Given the description of an element on the screen output the (x, y) to click on. 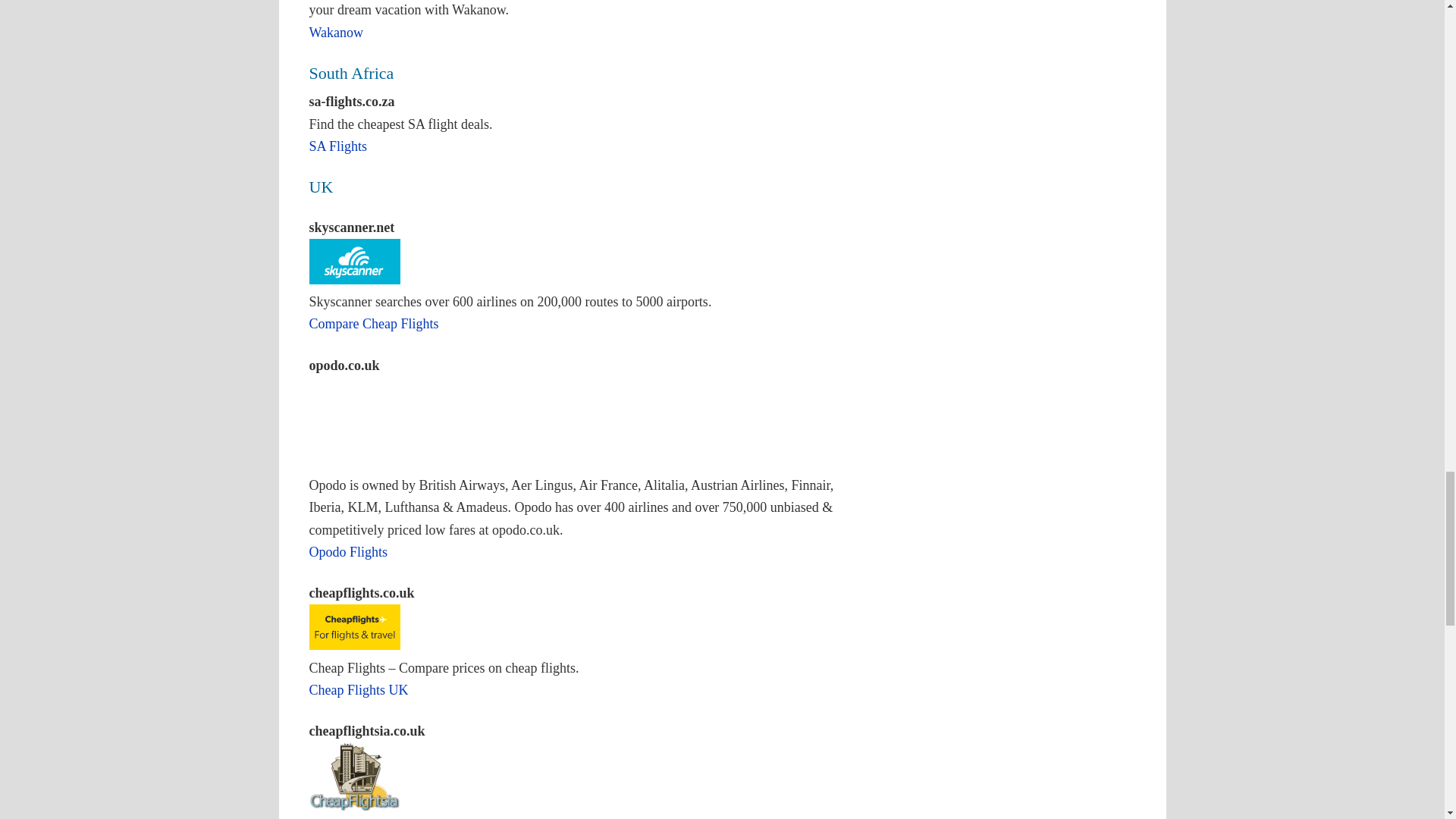
SA Flights (338, 145)
Opodo Flights (348, 551)
Wakanow (336, 31)
Compare Cheap Flights (373, 323)
